Given the description of an element on the screen output the (x, y) to click on. 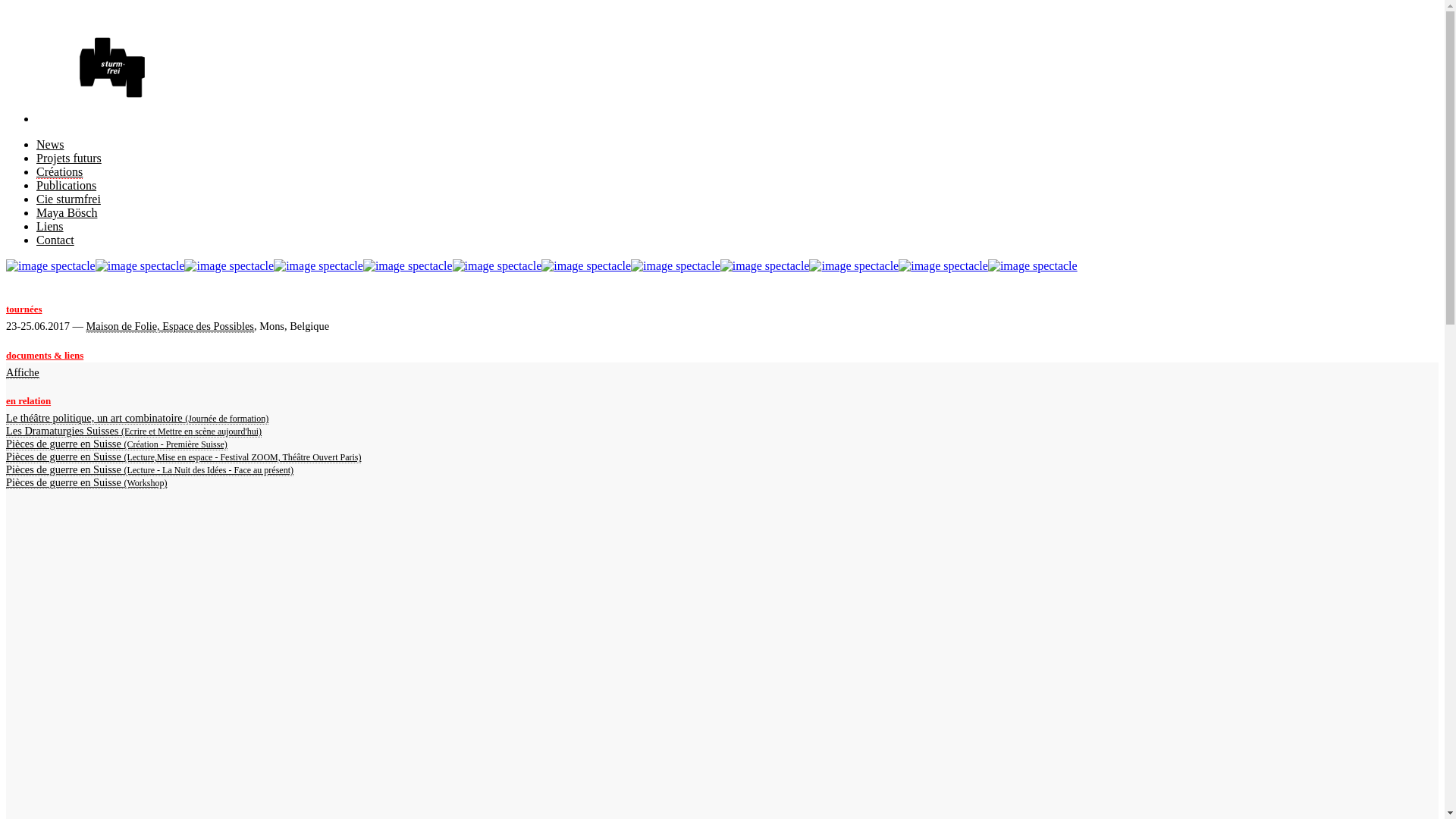
Maison de Folie, Espace des Possibles Element type: text (170, 326)
Projets futurs Element type: text (68, 157)
Affiche Element type: text (22, 372)
Contact Element type: text (55, 239)
Publications Element type: text (66, 184)
News Element type: text (49, 144)
Liens Element type: text (49, 225)
Cie sturmfrei Element type: text (68, 198)
